Given the description of an element on the screen output the (x, y) to click on. 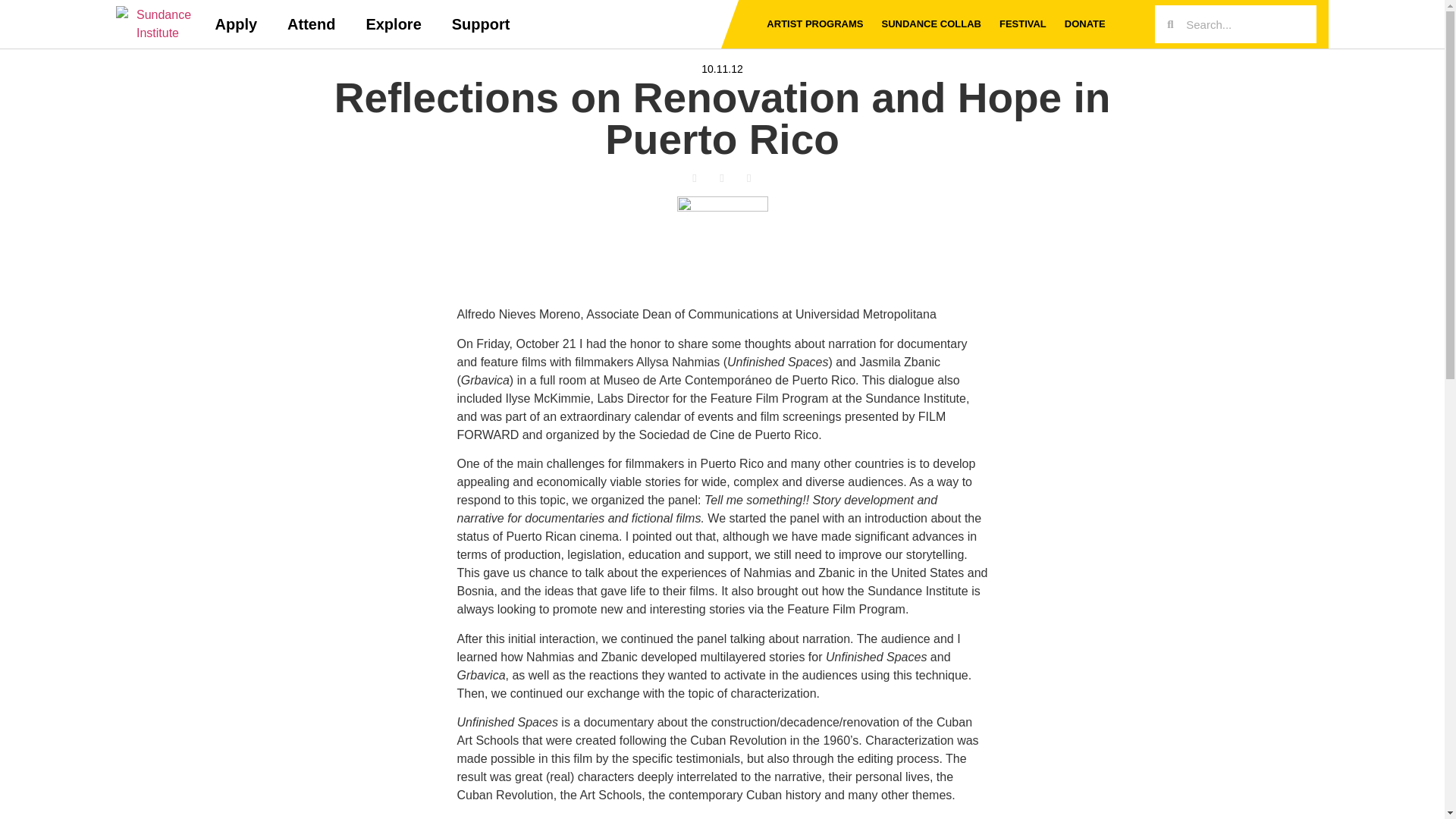
Explore (392, 24)
Apply (236, 24)
Support (480, 24)
Attend (311, 24)
